Given the description of an element on the screen output the (x, y) to click on. 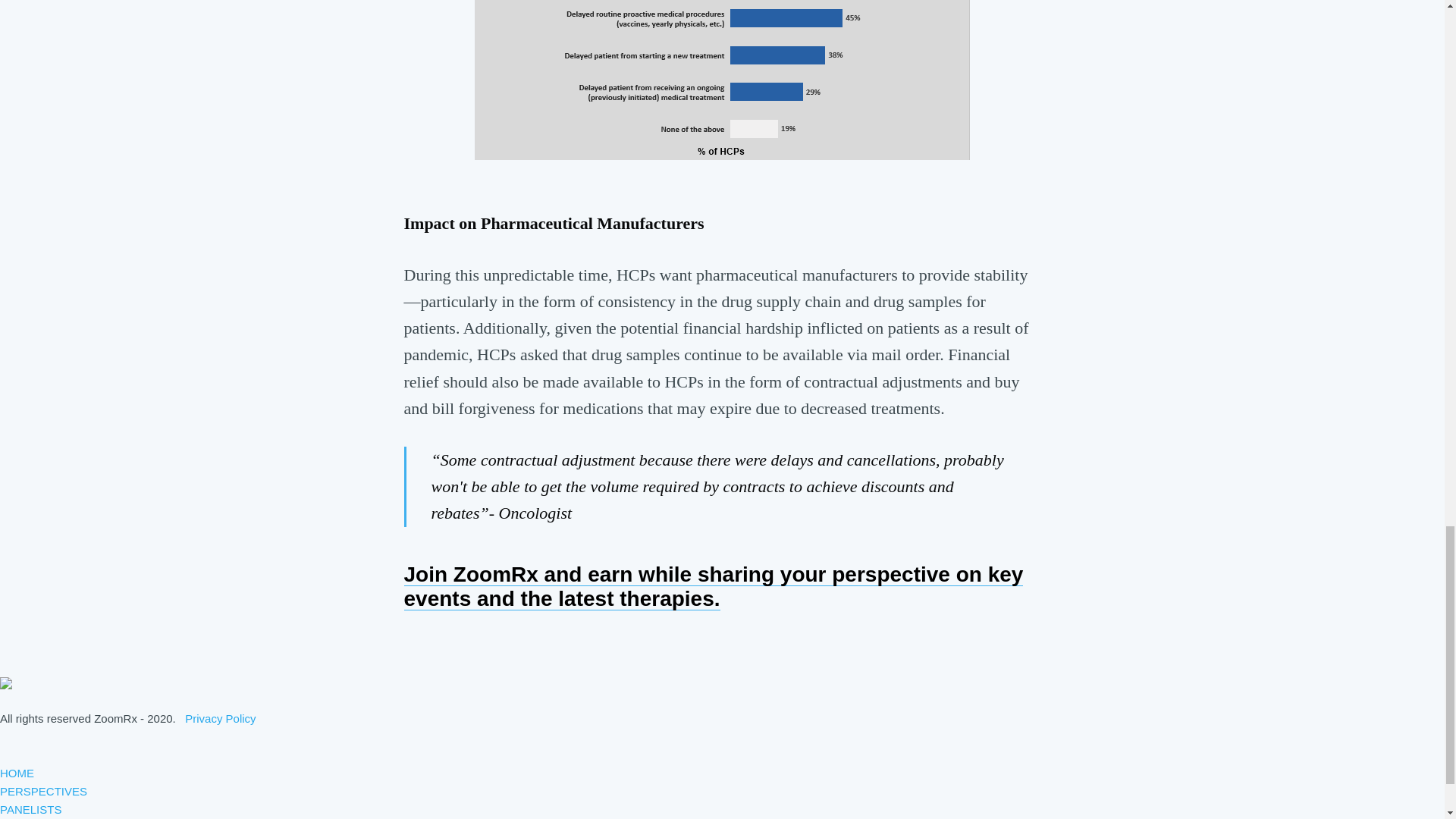
Privacy Policy (220, 717)
